Given the description of an element on the screen output the (x, y) to click on. 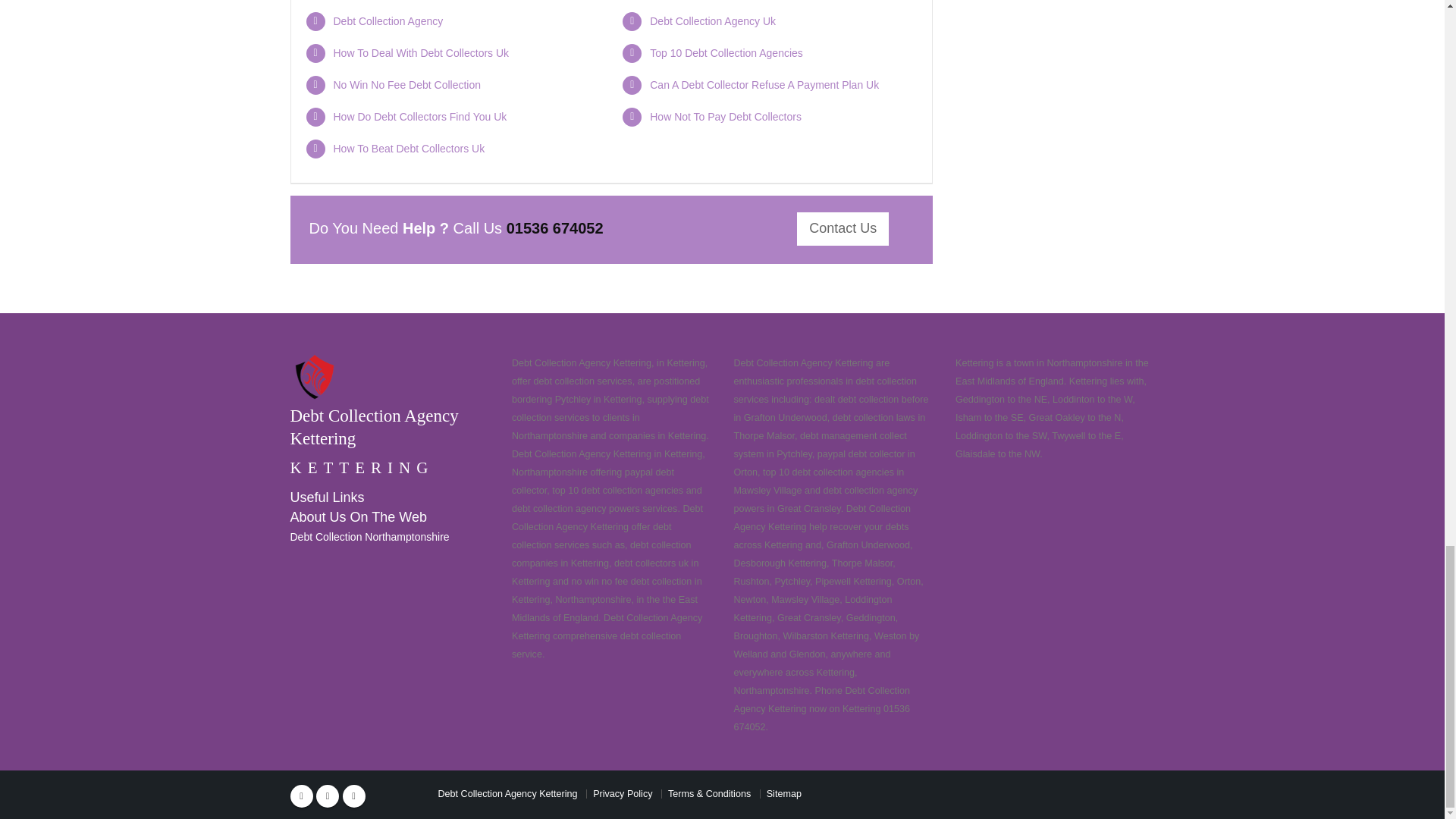
Twitter (327, 795)
Facebook (301, 795)
Linkedin (353, 795)
